Given the description of an element on the screen output the (x, y) to click on. 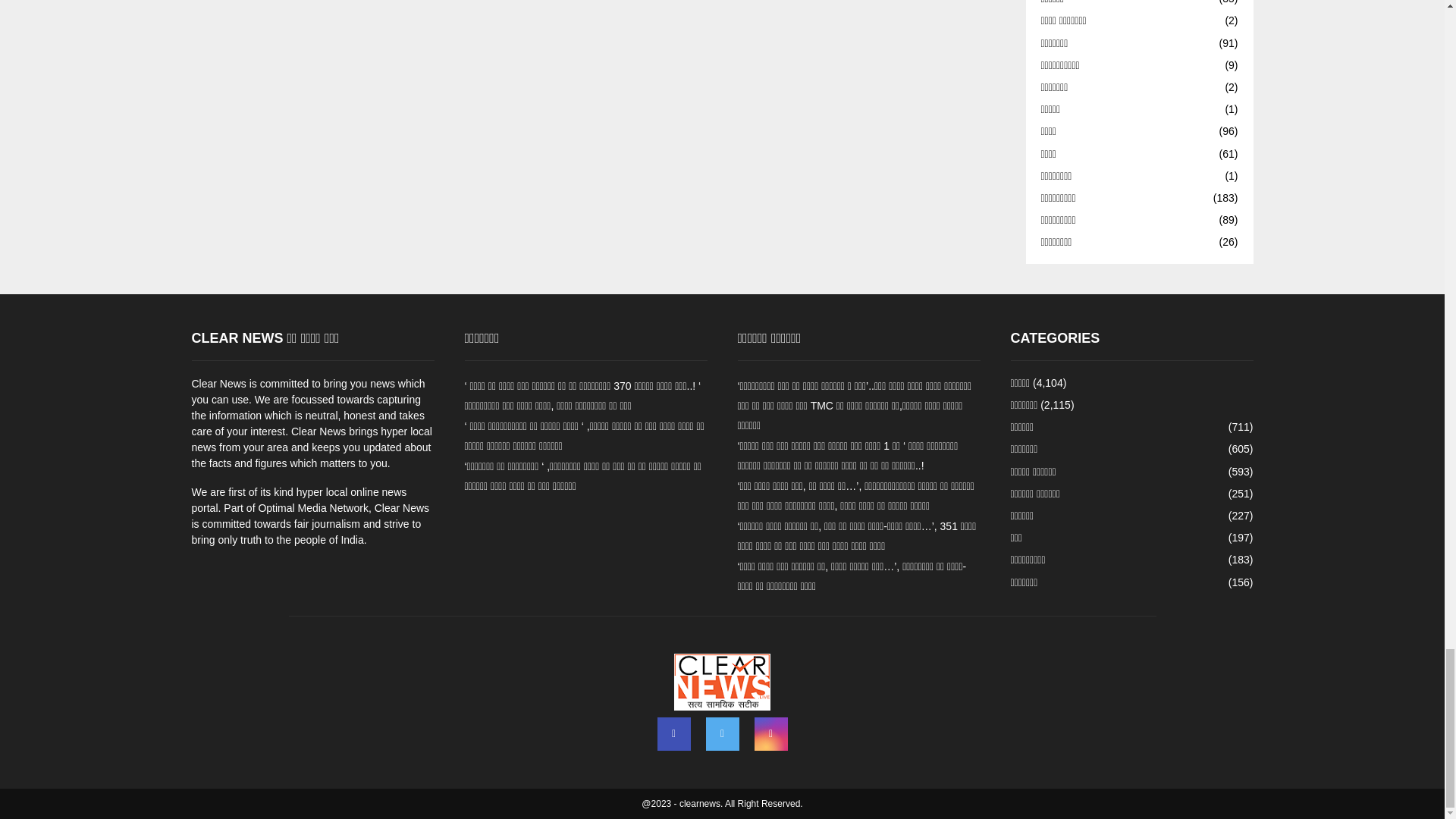
Instagram (770, 734)
Facebook (673, 734)
Twitter (721, 734)
